Given the description of an element on the screen output the (x, y) to click on. 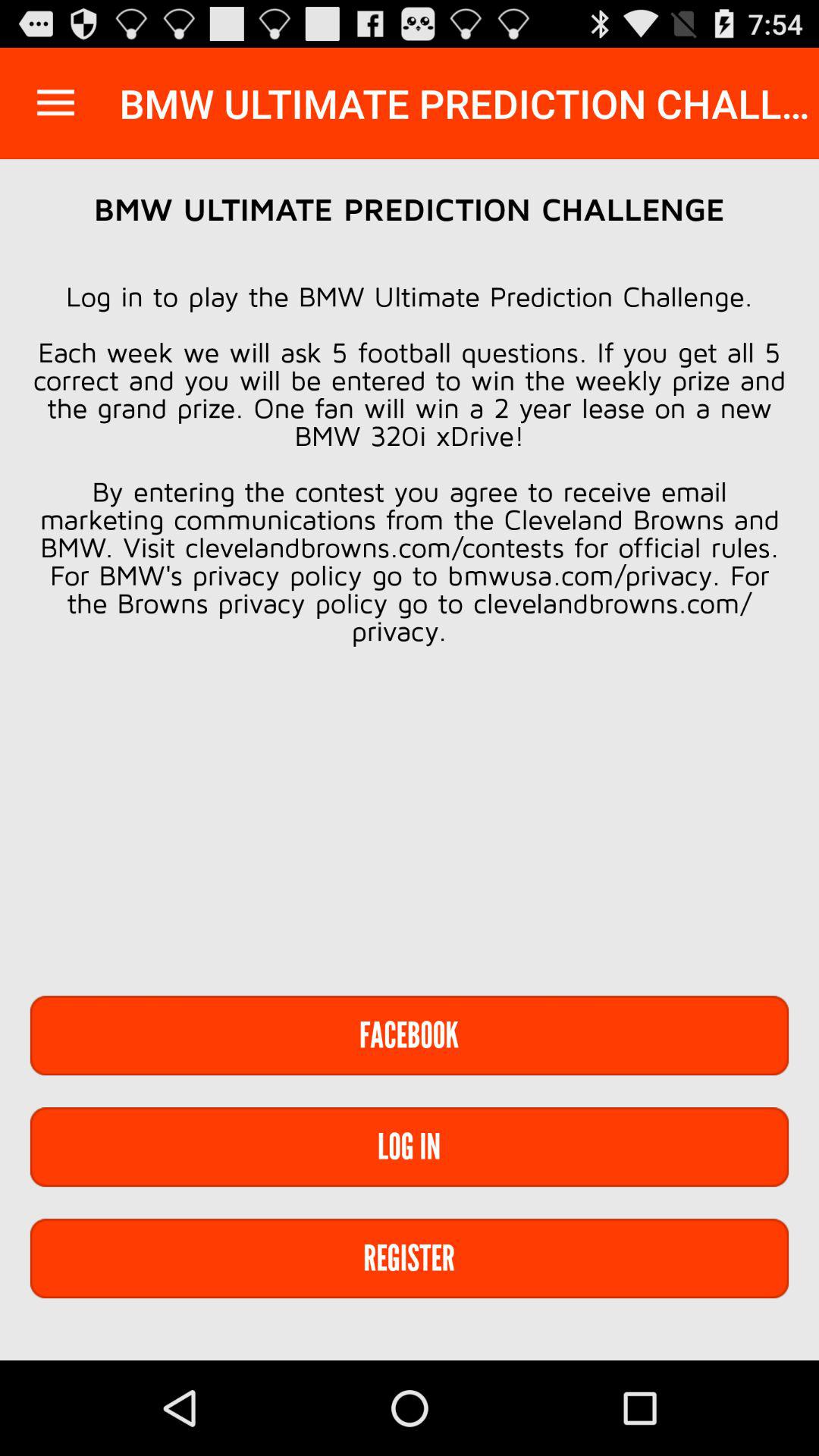
launch the item at the top left corner (55, 103)
